Given the description of an element on the screen output the (x, y) to click on. 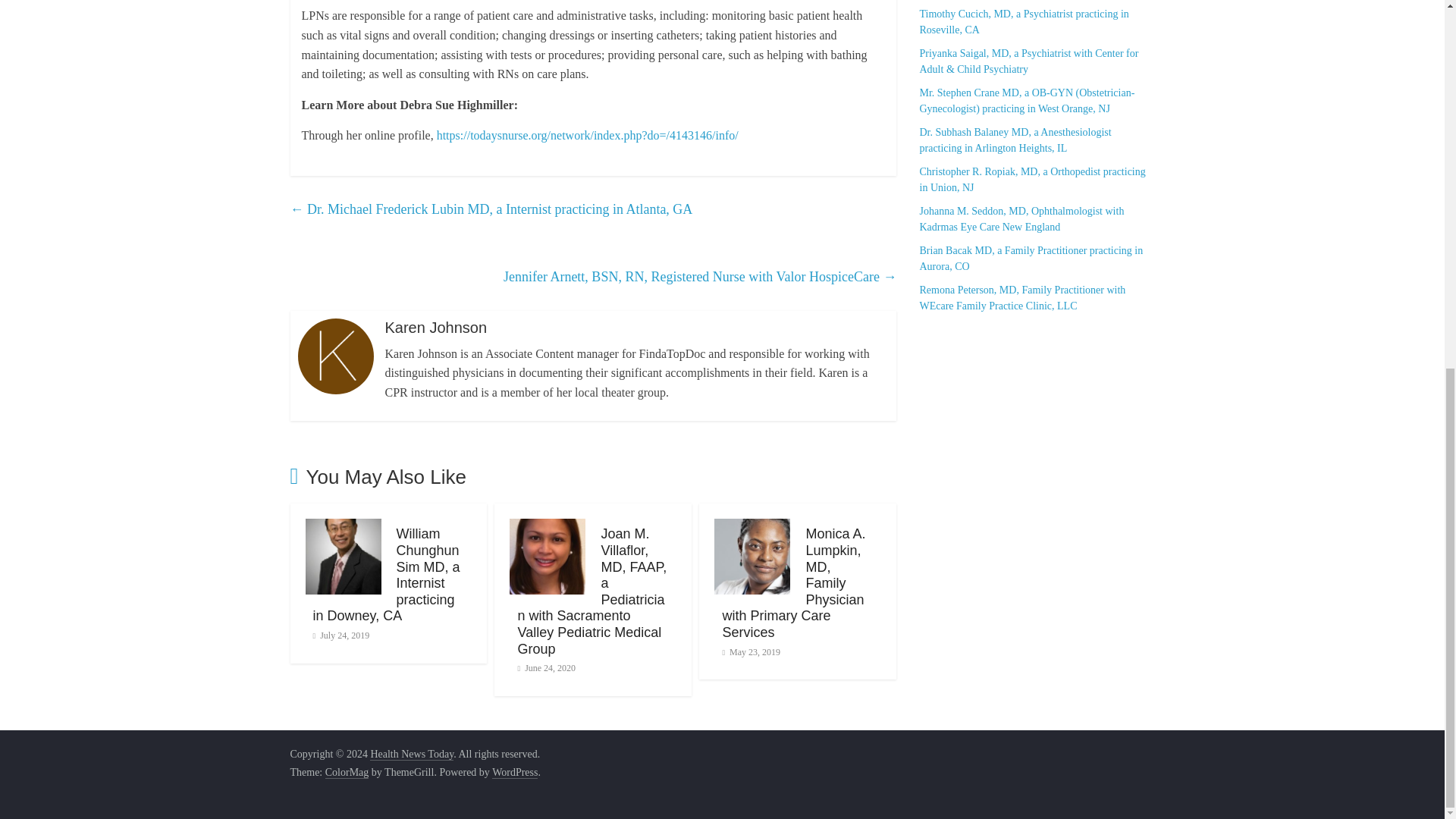
2:21 pm (545, 667)
June 24, 2020 (545, 667)
10:51 am (751, 652)
12:31 pm (341, 634)
July 24, 2019 (341, 634)
May 23, 2019 (751, 652)
